Given the description of an element on the screen output the (x, y) to click on. 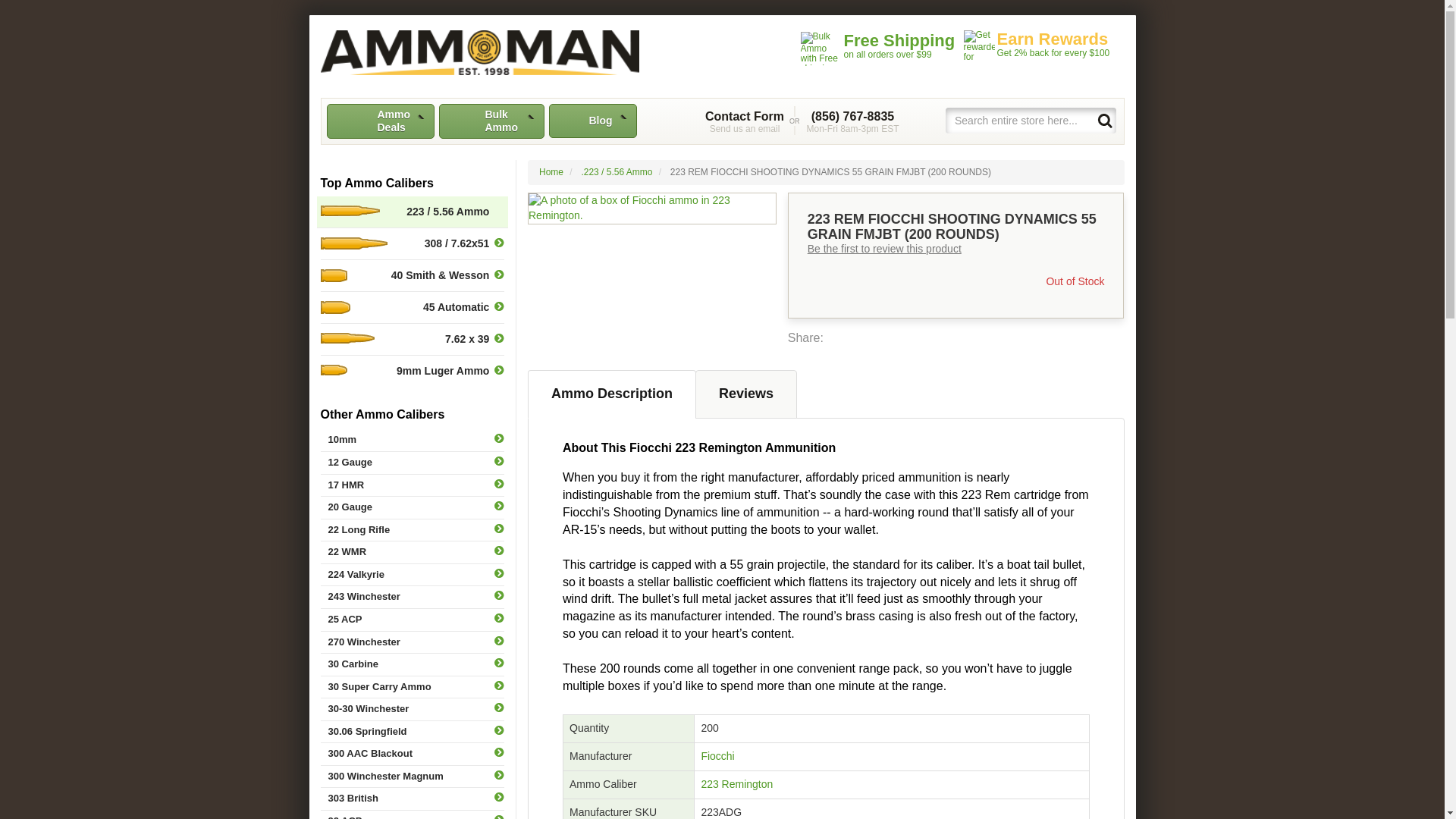
45 Automatic (411, 306)
20 Gauge (411, 507)
Blog (592, 121)
Discount Ammo Deals - Ammo on Sale (379, 121)
7.62 x 39 (411, 338)
22 Long Rifle (411, 530)
Discount Bulk Ammunition for Sale (479, 52)
Be the first to review this product (884, 248)
Ammo Deals (379, 121)
223 ammo (736, 784)
Home (550, 172)
Discount Ammunition for Sale at AmmoMan.com (744, 121)
17 HMR (479, 52)
Ammo Description (411, 485)
